Given the description of an element on the screen output the (x, y) to click on. 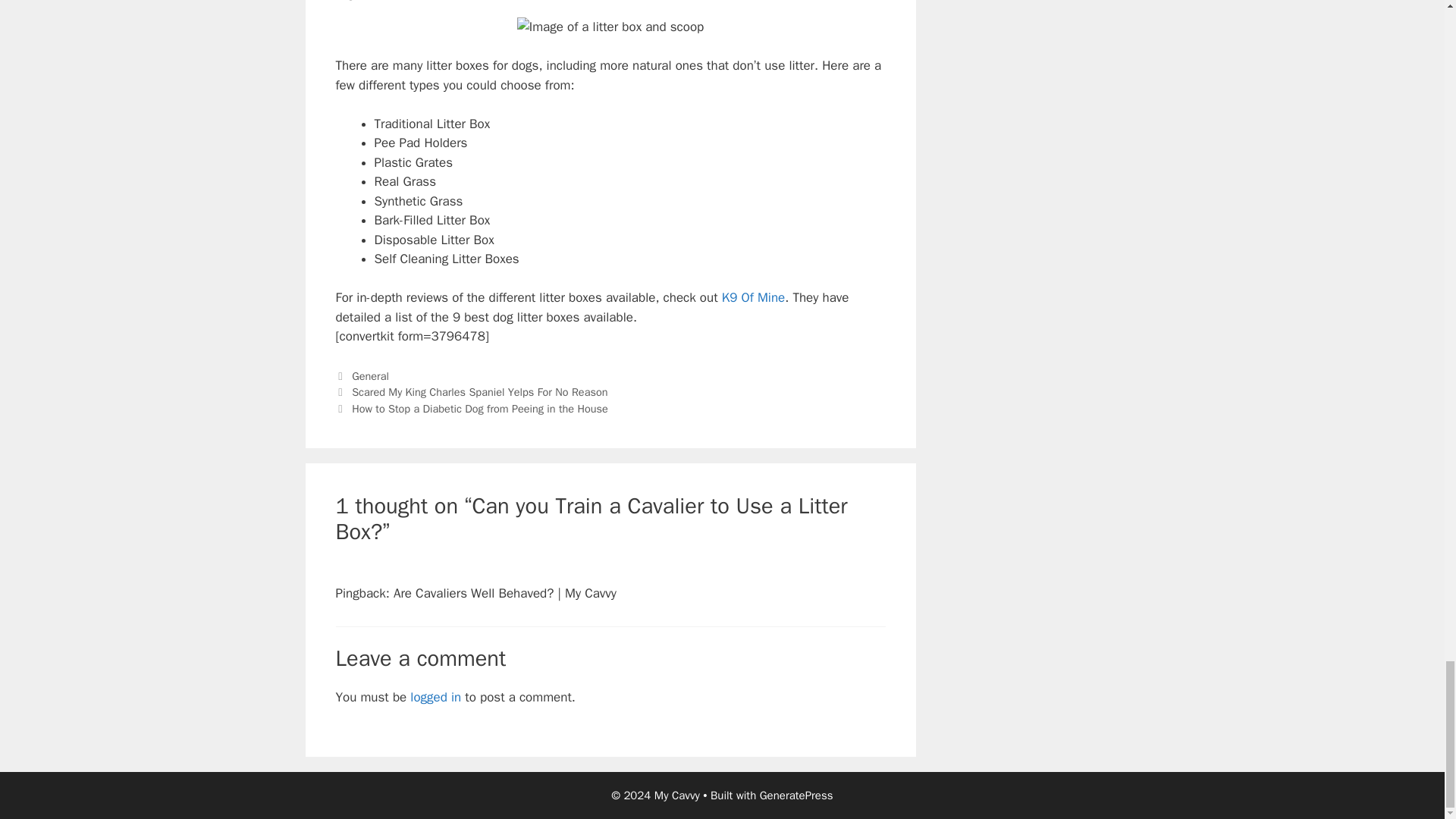
How to Stop a Diabetic Dog from Peeing in the House (480, 408)
logged in (435, 697)
K9 Of Mine (754, 297)
Scared My King Charles Spaniel Yelps For No Reason (479, 391)
General (370, 376)
